Given the description of an element on the screen output the (x, y) to click on. 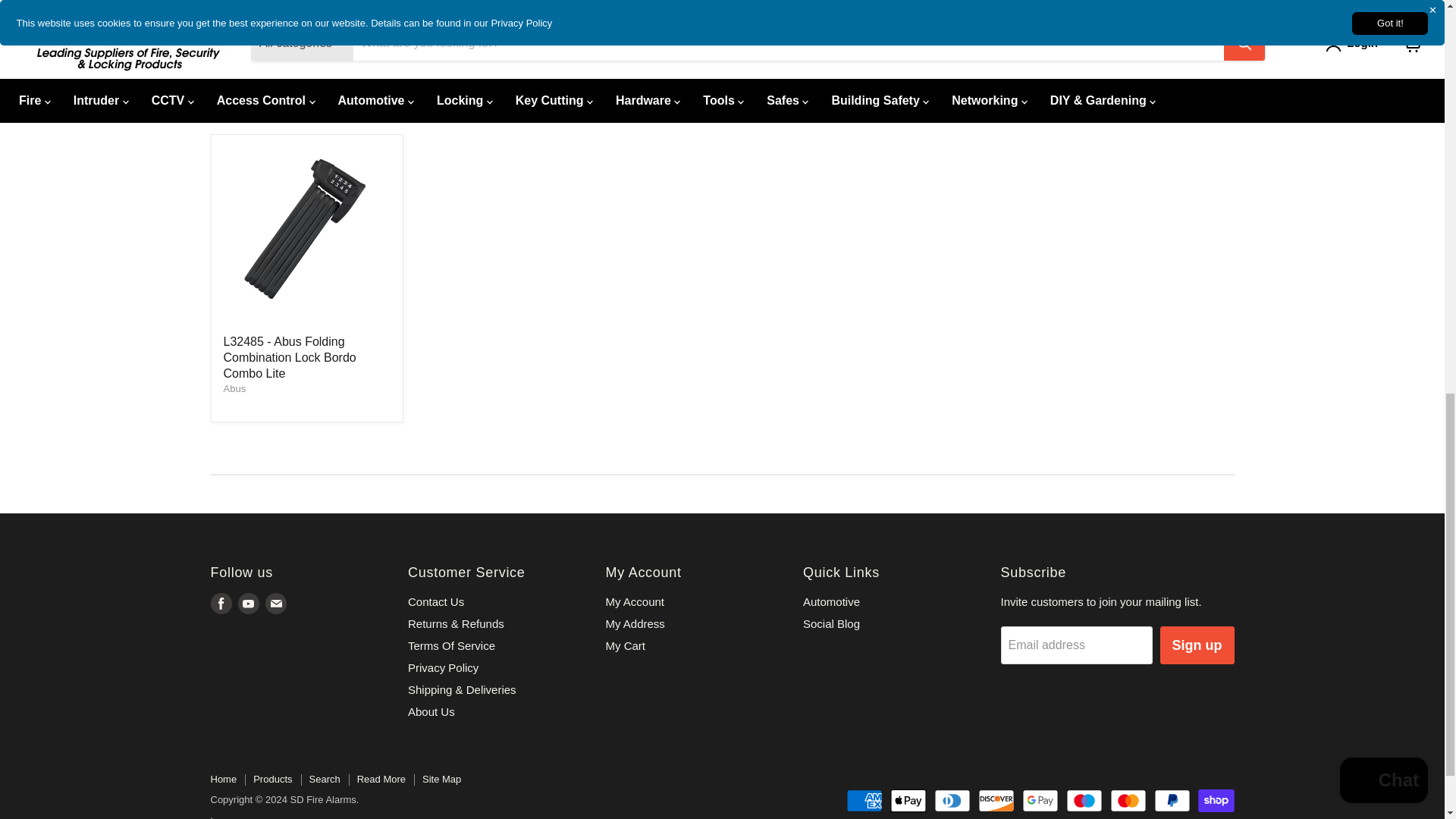
Facebook (221, 603)
Abus (234, 388)
Youtube (248, 603)
Email (275, 603)
